Given the description of an element on the screen output the (x, y) to click on. 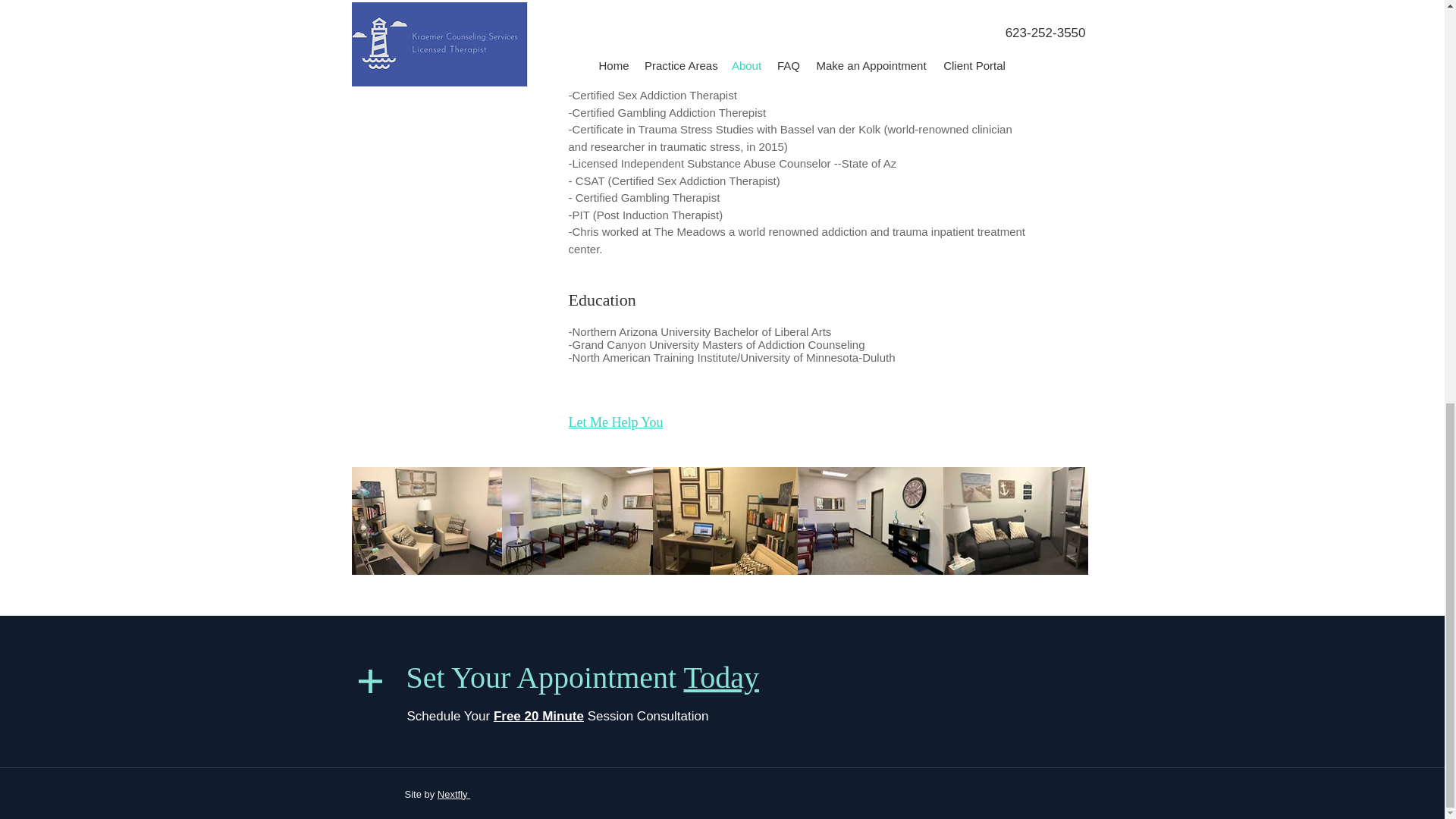
Let Me Help You (616, 421)
Nextfly  (454, 794)
Set Your Appointment Today (582, 676)
